Given the description of an element on the screen output the (x, y) to click on. 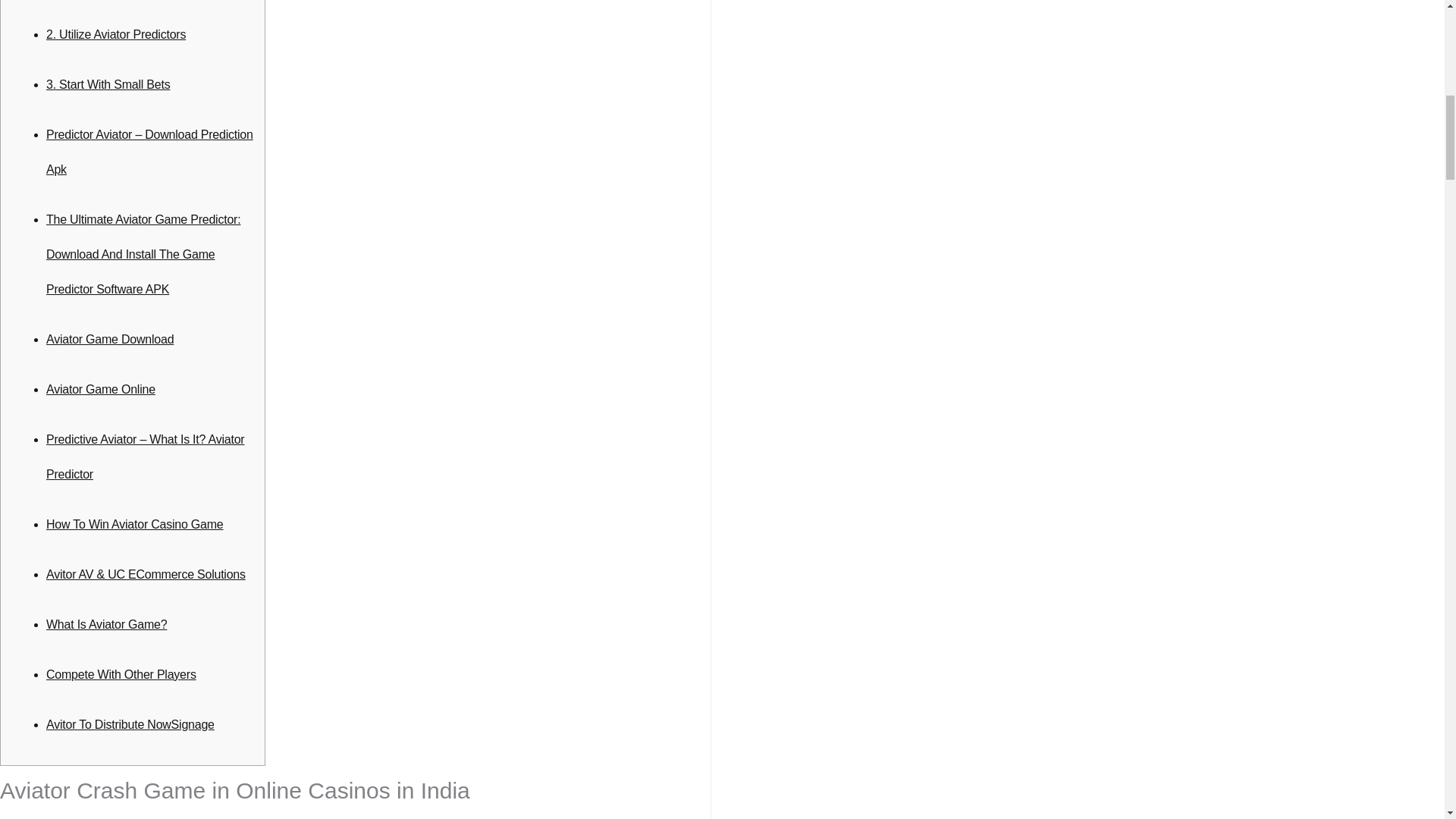
Aviator Game Online (100, 389)
3. Start With Small Bets (108, 83)
2. Utilize Aviator Predictors (116, 33)
How To Win Aviator Casino Game (135, 523)
Compete With Other Players (121, 674)
Aviator Game Download (109, 338)
Avitor To Distribute NowSignage (130, 724)
What Is Aviator Game? (106, 624)
